Given the description of an element on the screen output the (x, y) to click on. 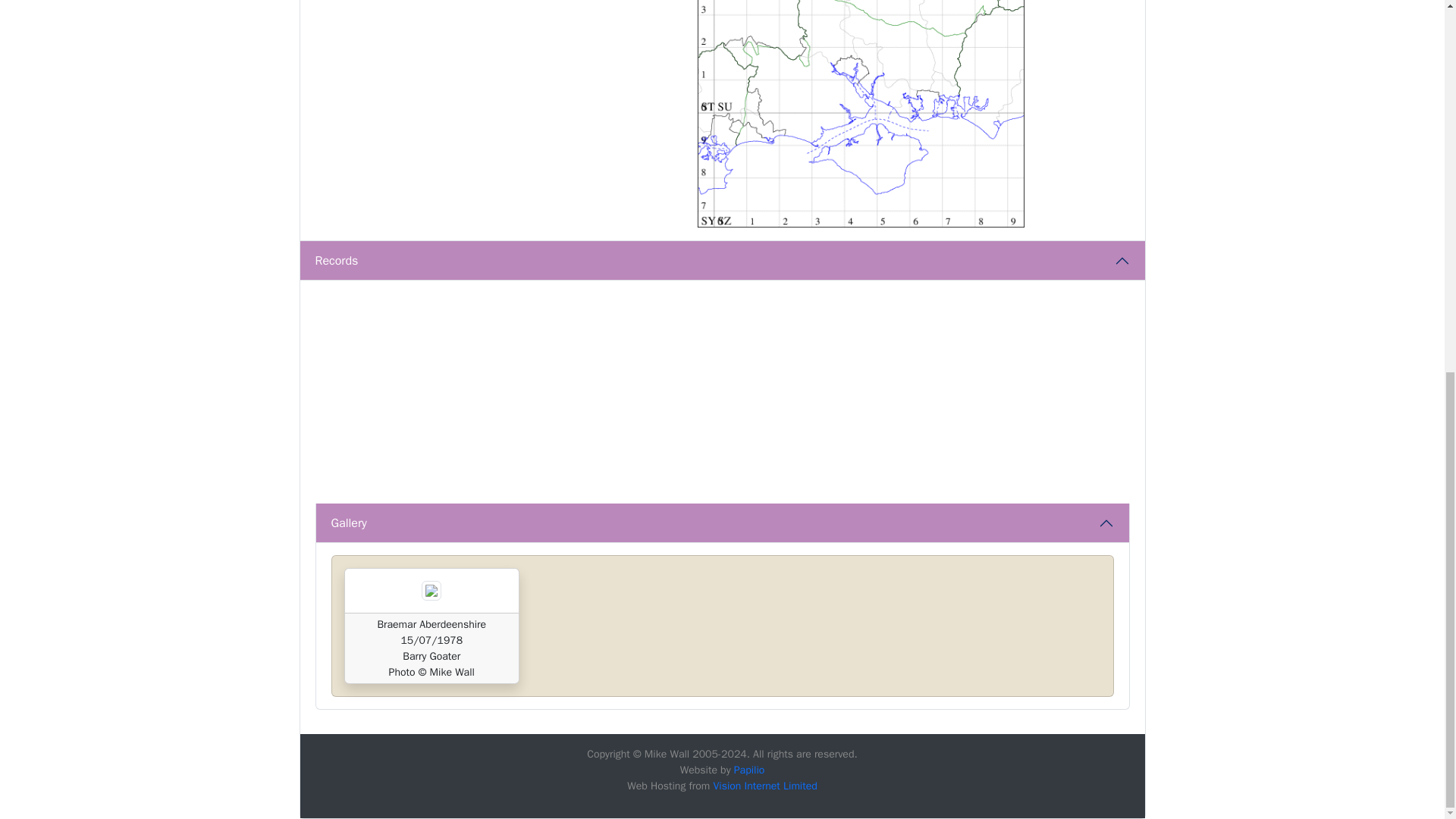
Records (721, 260)
Gallery (721, 522)
Papilio (749, 769)
Vision Internet Limited (764, 785)
